Given the description of an element on the screen output the (x, y) to click on. 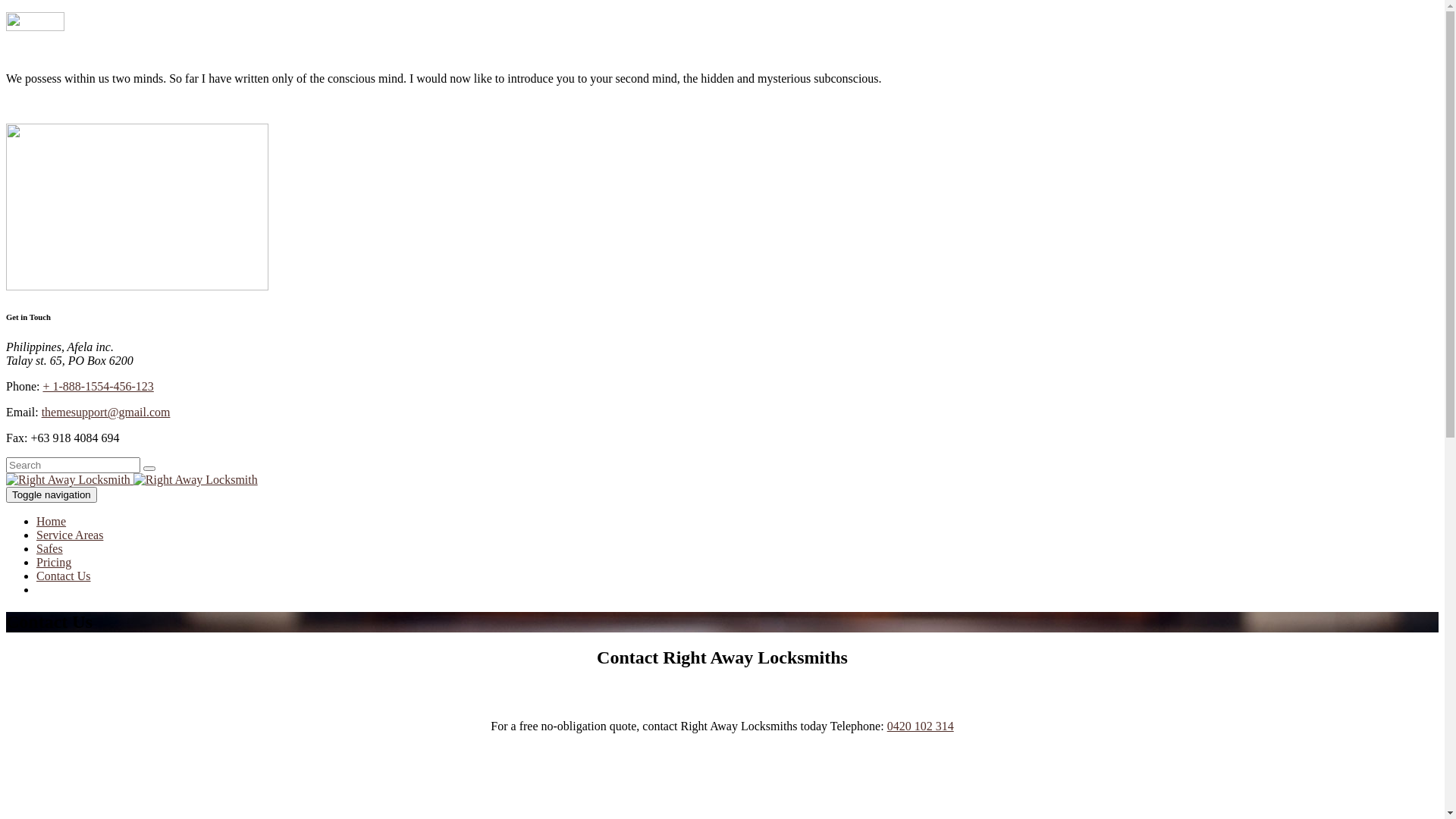
0420 102 314 Element type: text (920, 725)
Toggle navigation Element type: text (51, 494)
Pricing Element type: text (53, 561)
Service Areas Element type: text (69, 534)
Contact Us Element type: text (63, 575)
+ 1-888-1554-456-123 Element type: text (97, 385)
Safes Element type: text (49, 548)
Home Element type: text (50, 520)
themesupport@gmail.com Element type: text (105, 411)
